Given the description of an element on the screen output the (x, y) to click on. 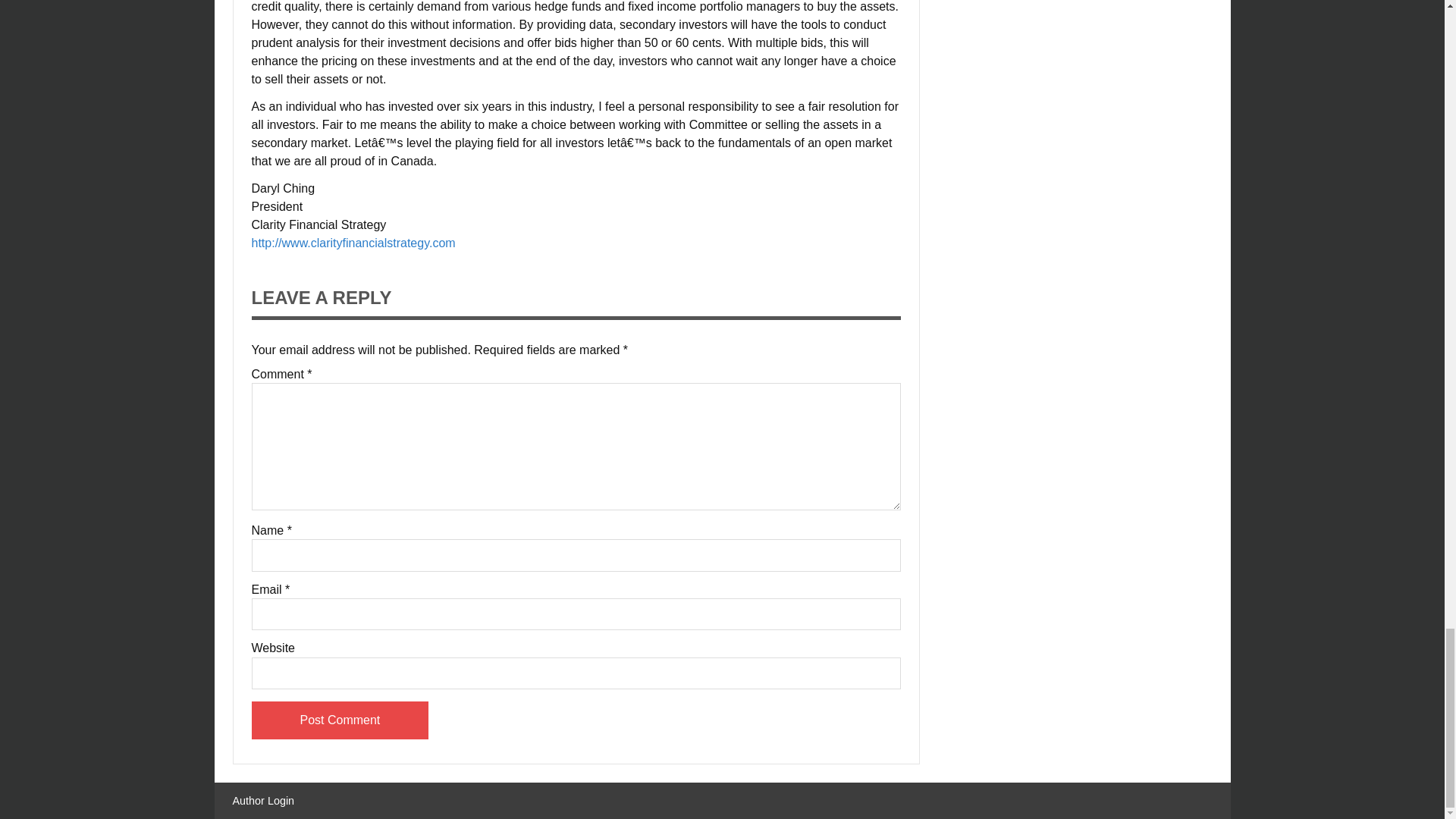
Post Comment (340, 720)
